Given the description of an element on the screen output the (x, y) to click on. 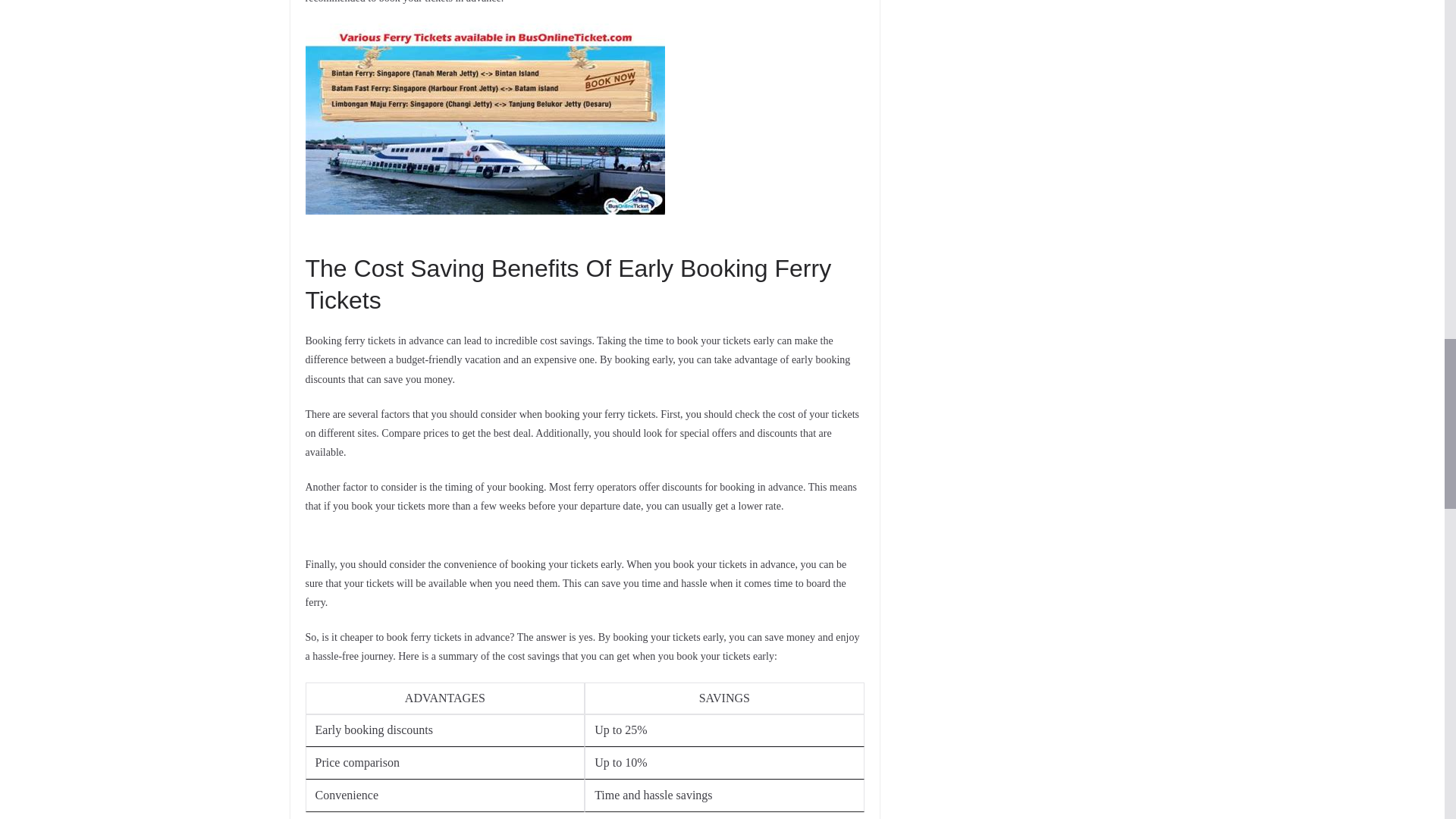
Is It Cheaper To Book Ferry In Advance? 2 (483, 118)
